Given the description of an element on the screen output the (x, y) to click on. 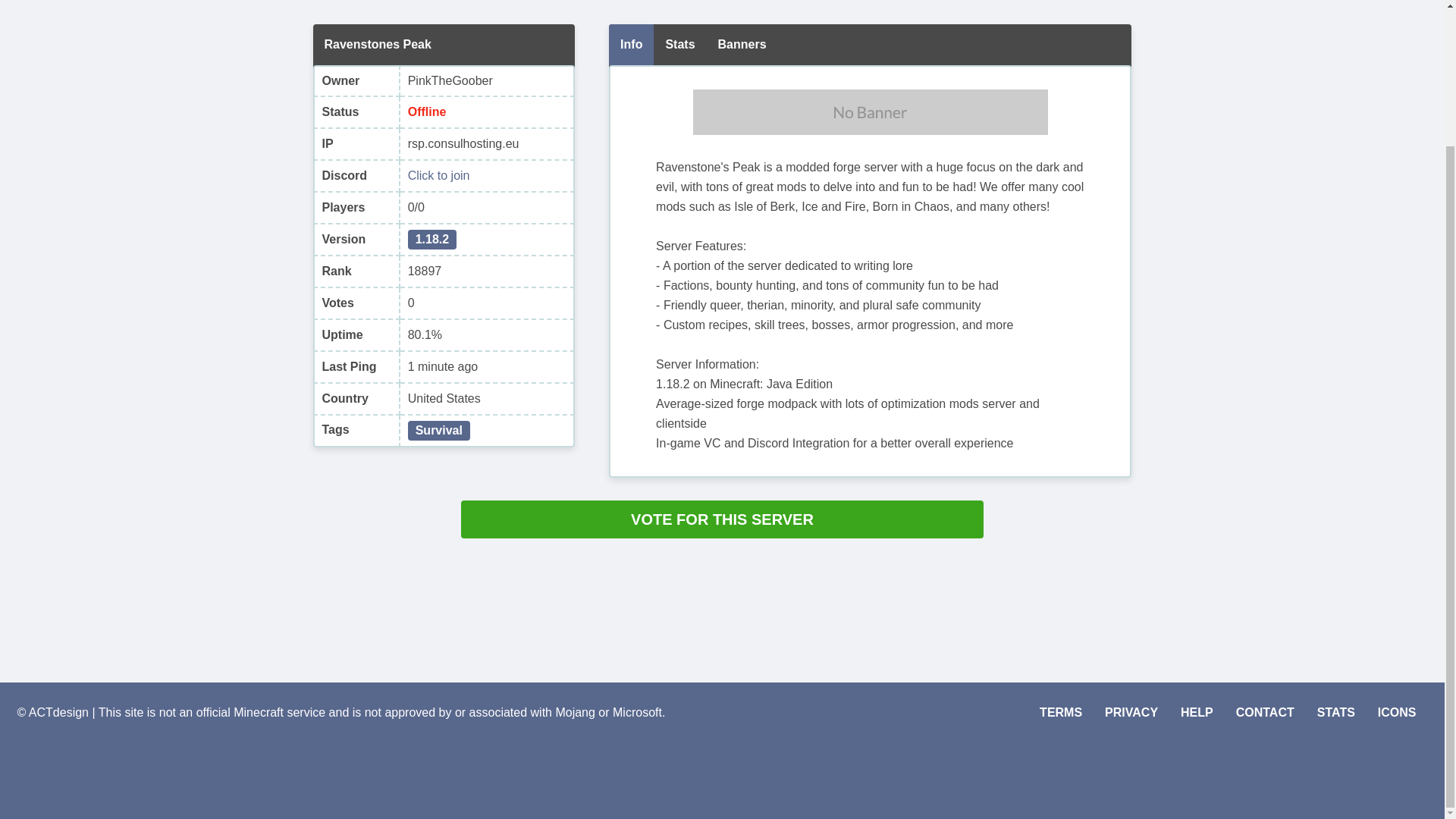
ICONS (1397, 712)
PRIVACY (1131, 712)
HELP (1196, 712)
Survival (438, 430)
VOTE FOR THIS SERVER (722, 519)
CONTACT (1265, 712)
1.18.2 (432, 239)
TERMS (1060, 712)
STATS (1336, 712)
Click to join (438, 176)
